Given the description of an element on the screen output the (x, y) to click on. 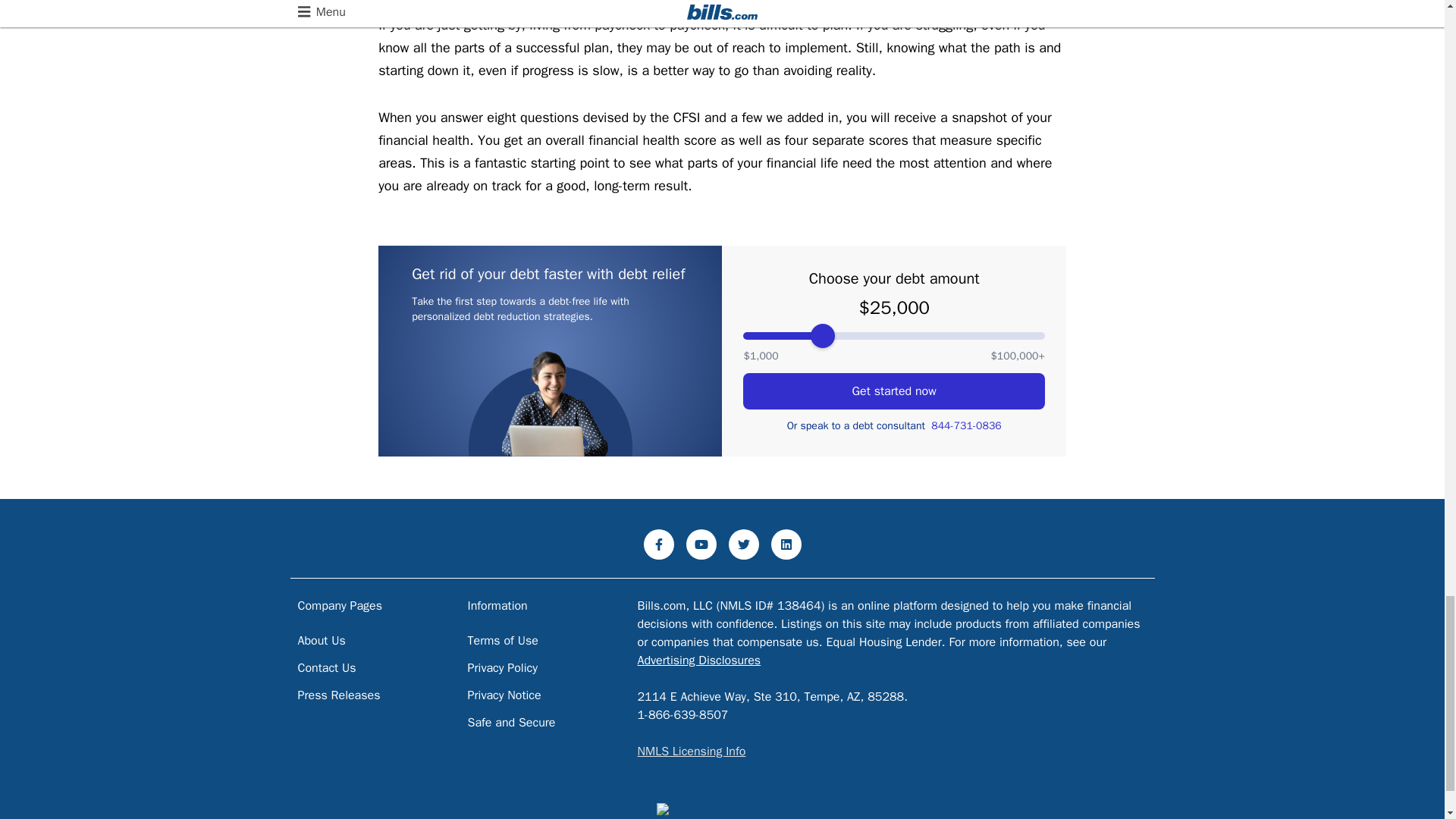
25000 (892, 335)
